Given the description of an element on the screen output the (x, y) to click on. 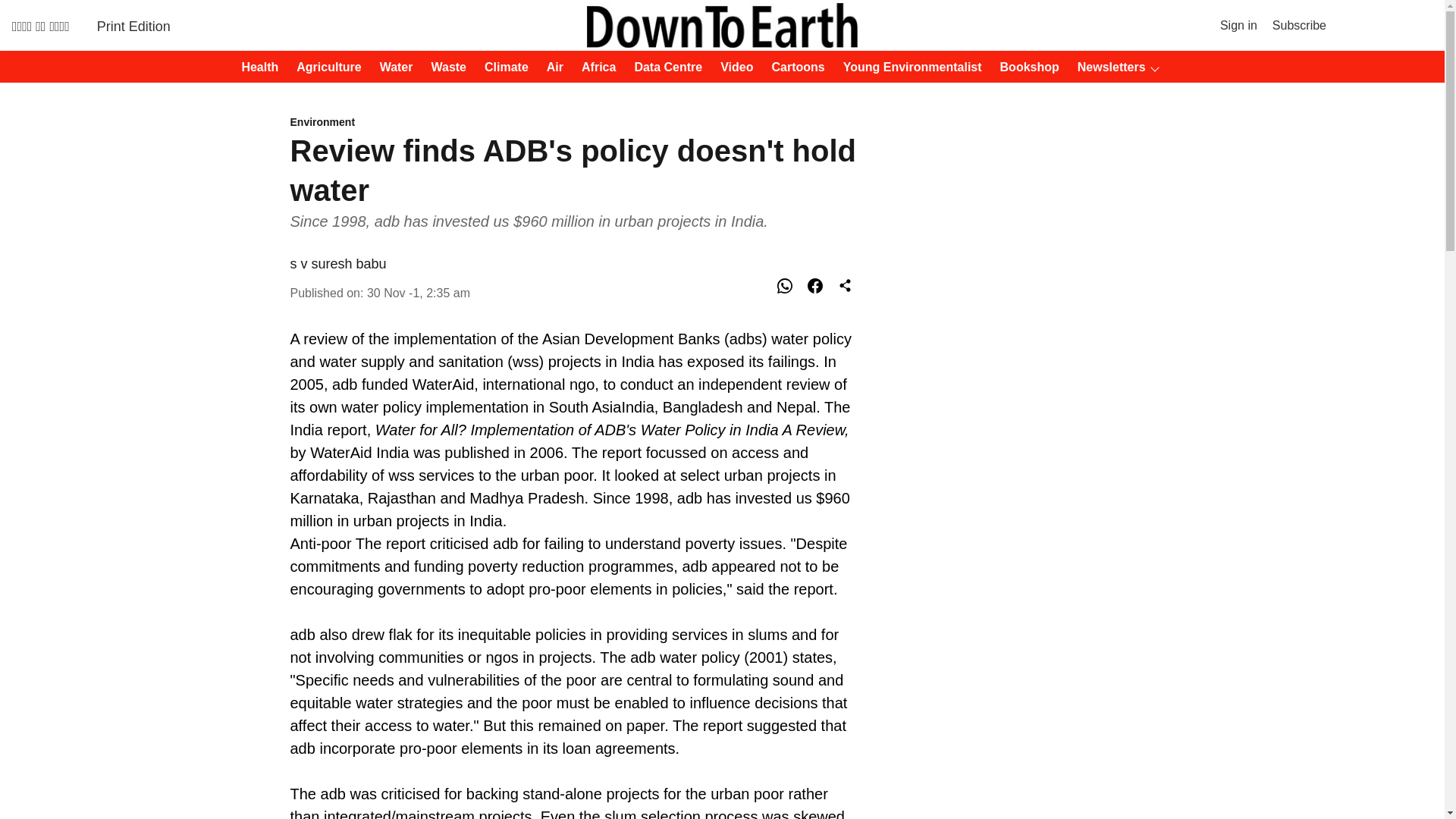
Agriculture (323, 67)
Cartoons (793, 67)
Environment (574, 123)
Waste (443, 67)
Climate (502, 67)
s v suresh babu (337, 263)
Health (254, 67)
-000001-11-29 18 (418, 292)
Video (731, 67)
Young Environmentalist (907, 67)
